Given the description of an element on the screen output the (x, y) to click on. 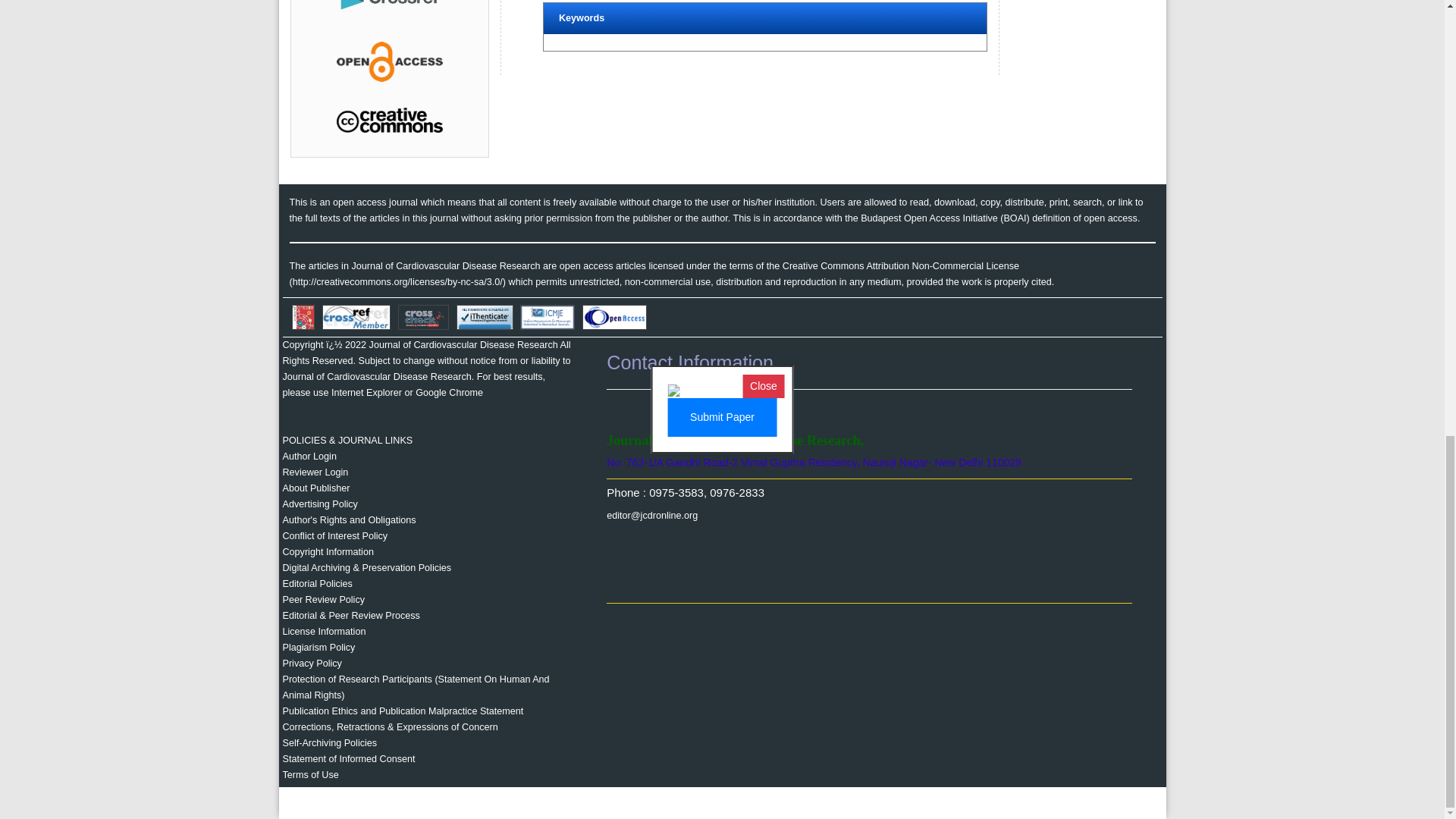
Reviewer Login (314, 471)
Copyright Information (327, 552)
Advertising Policy (319, 503)
Author's Rights and Obligations (348, 520)
Editorial Policies (317, 583)
Conflict of Interest Policy (334, 535)
About Publisher (315, 488)
Author Login (309, 456)
License Information (323, 631)
Peer Review Policy (323, 599)
